Given the description of an element on the screen output the (x, y) to click on. 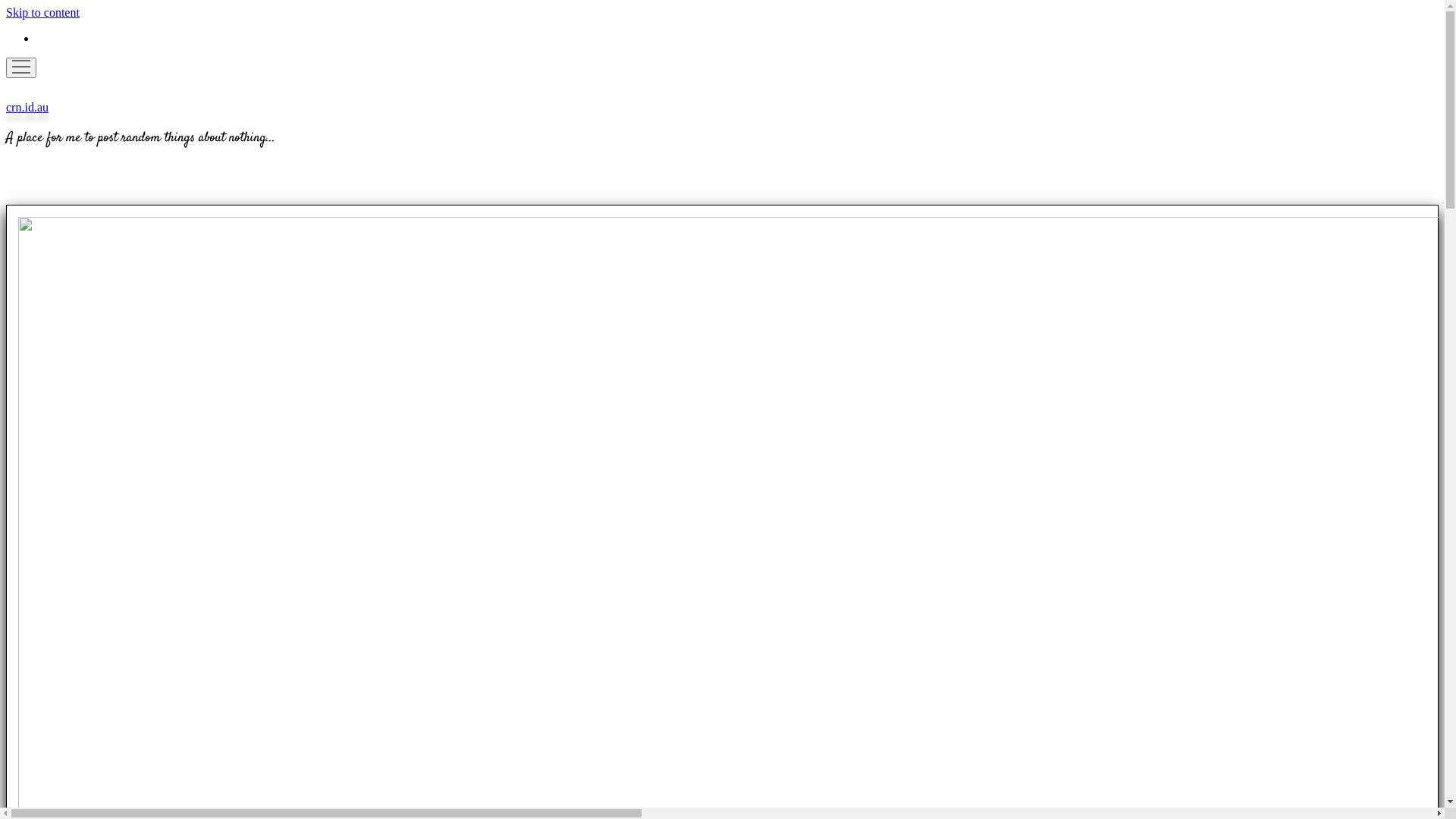
open menu Element type: text (21, 67)
Skip to content Element type: text (42, 12)
crn.id.au Element type: text (27, 106)
